Given the description of an element on the screen output the (x, y) to click on. 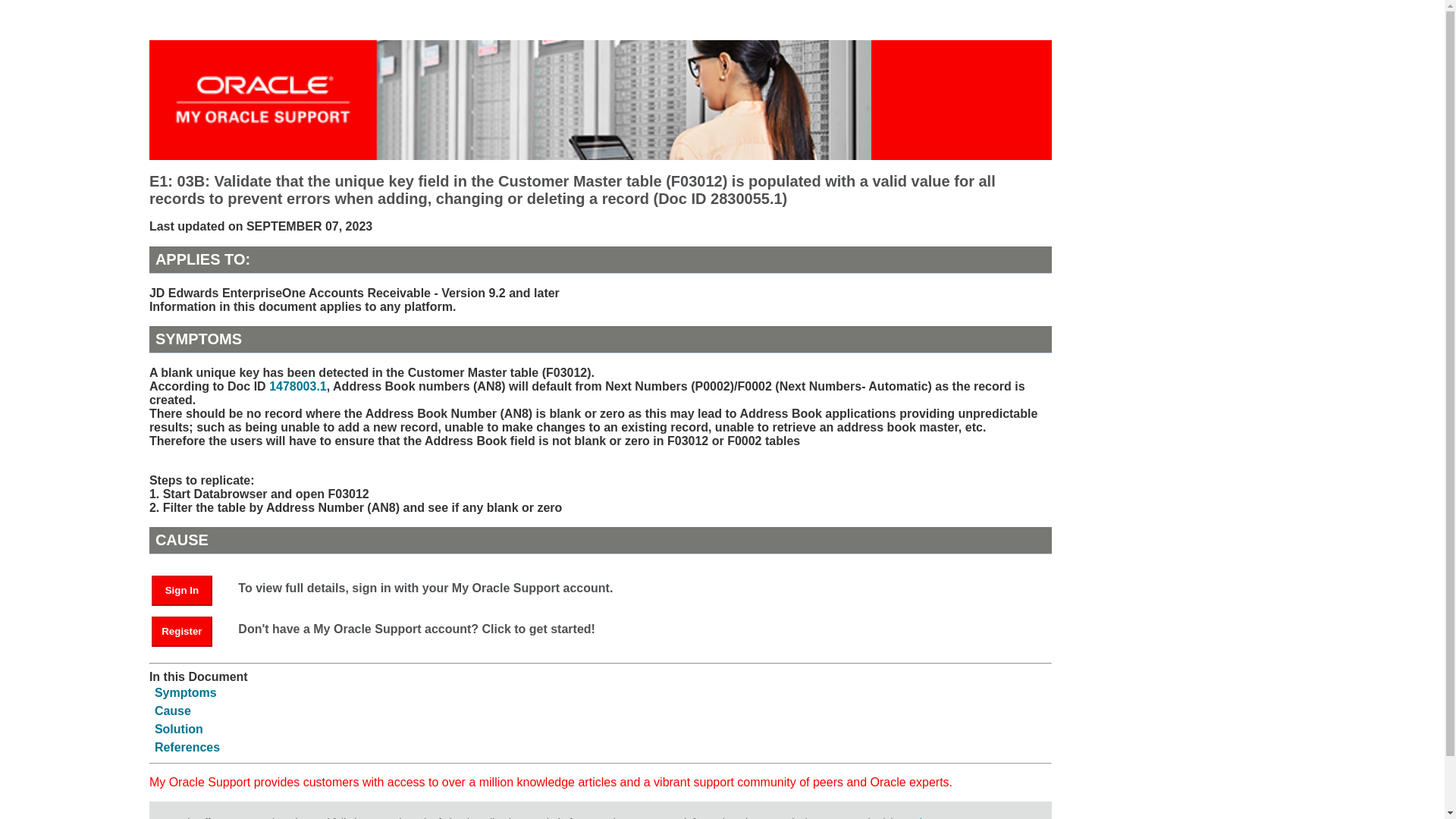
Cause (172, 710)
Sign In (181, 590)
Symptoms (185, 692)
Register (189, 630)
Sign In (189, 589)
References (186, 747)
1478003.1 (297, 386)
oracle.com (924, 817)
oracle.com (924, 817)
Solution (178, 728)
